Given the description of an element on the screen output the (x, y) to click on. 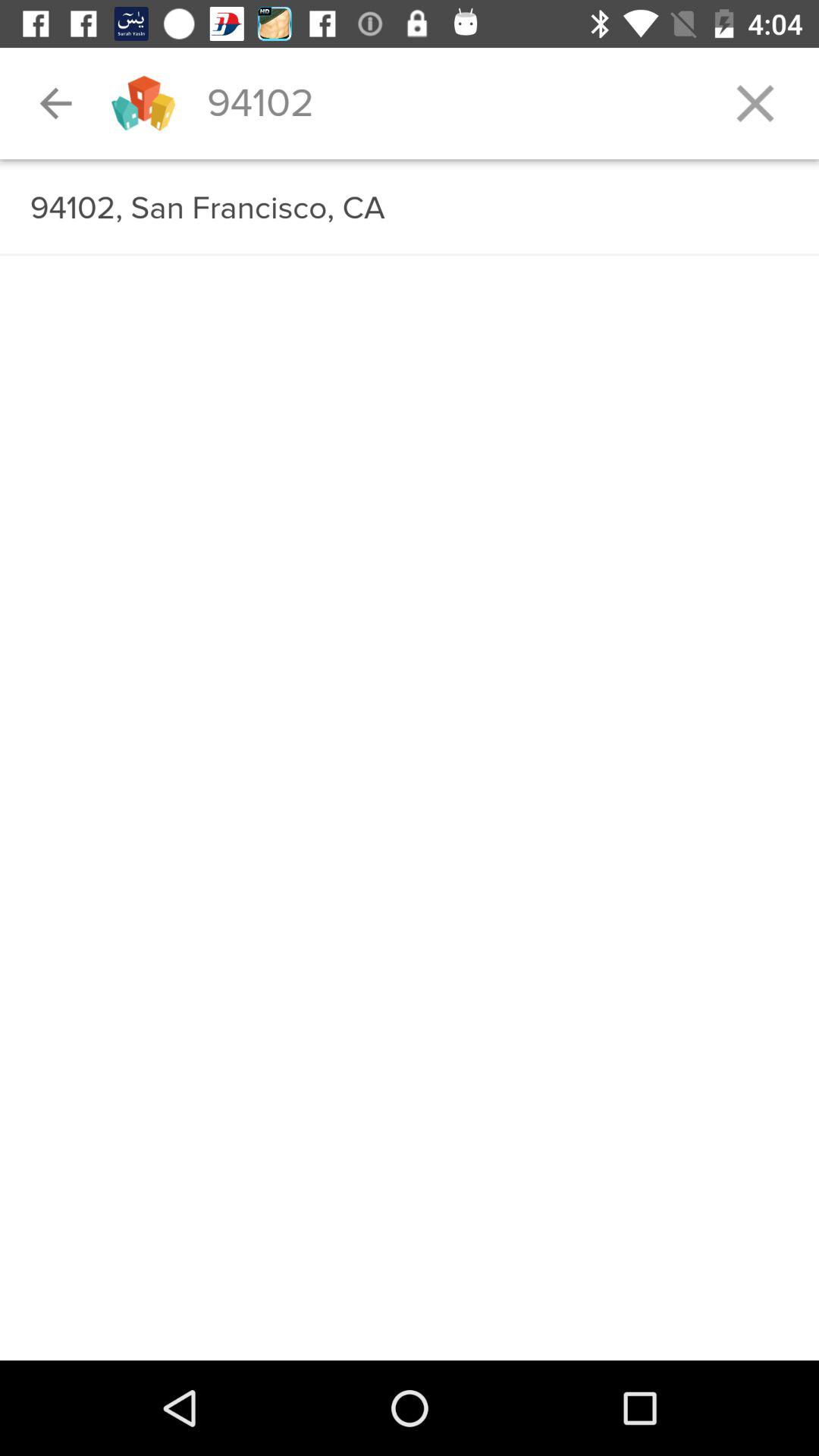
click icon to the right of 94102 (755, 103)
